Given the description of an element on the screen output the (x, y) to click on. 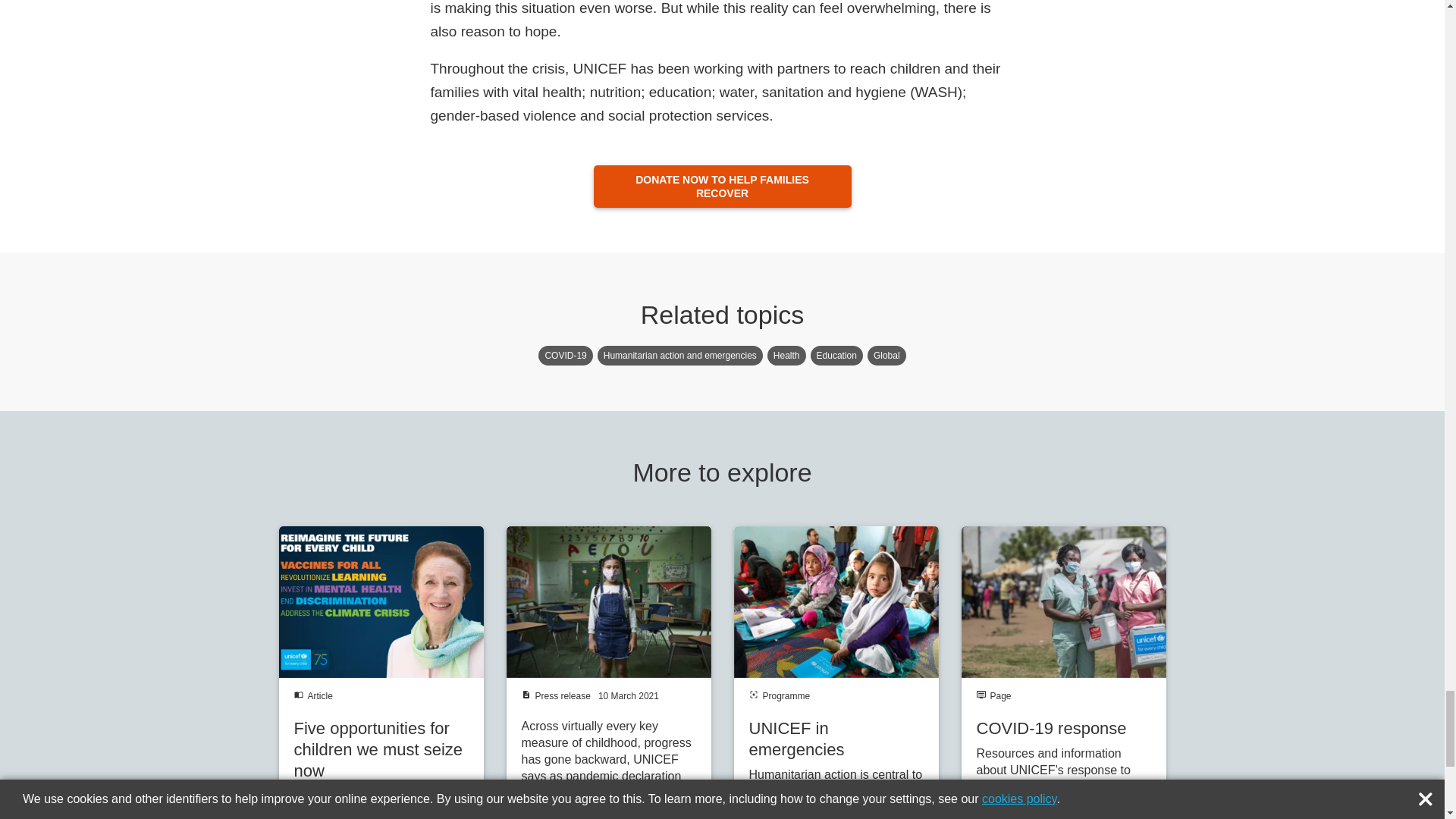
Five opportunities for children we must seize now (381, 672)
COVID-19 response (1063, 672)
UNICEF in emergencies (836, 672)
